Given the description of an element on the screen output the (x, y) to click on. 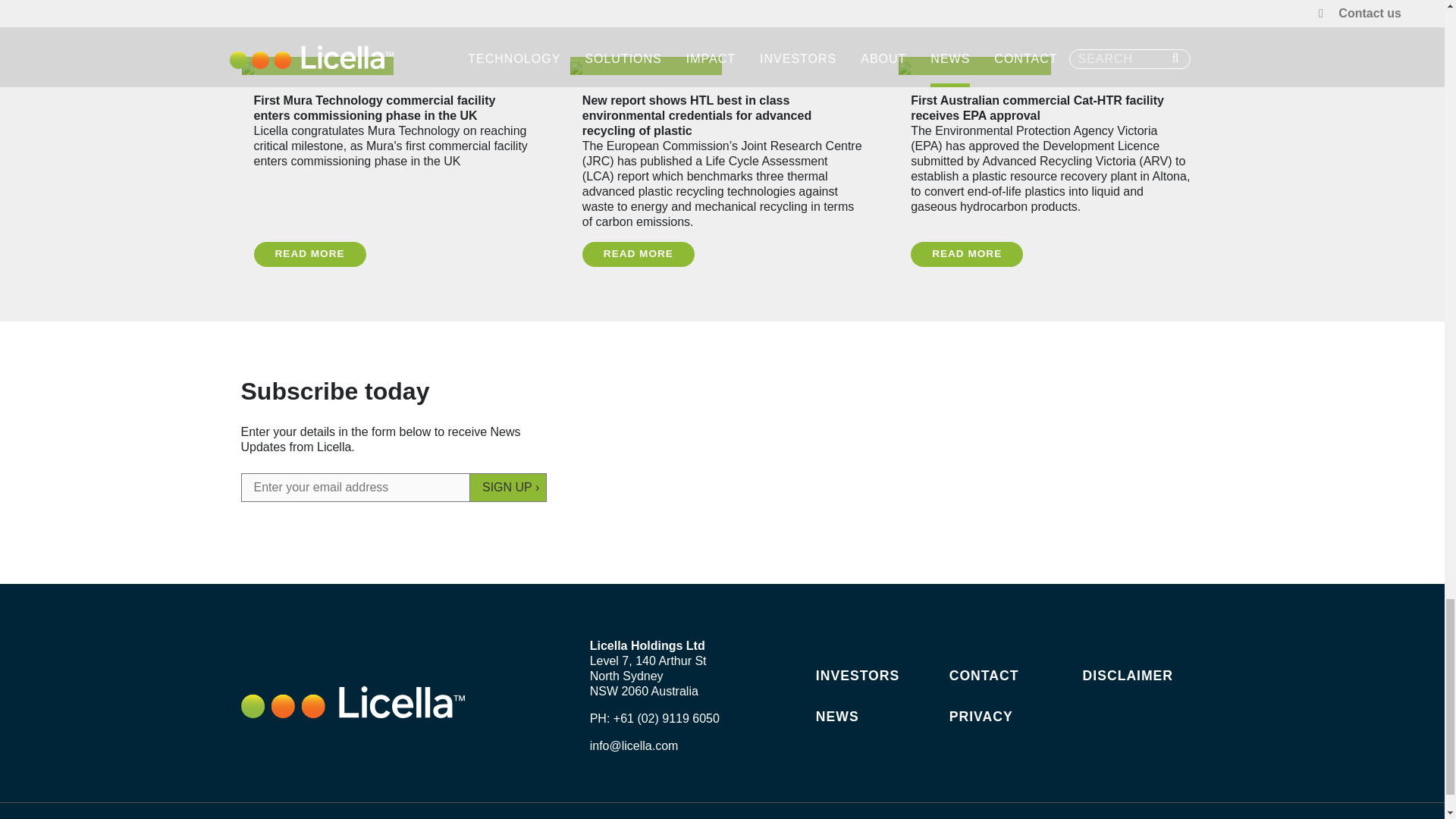
NEWS (837, 716)
READ MORE (638, 253)
READ MORE (967, 253)
READ MORE (309, 253)
CONTACT (984, 675)
INVESTORS (857, 675)
